Given the description of an element on the screen output the (x, y) to click on. 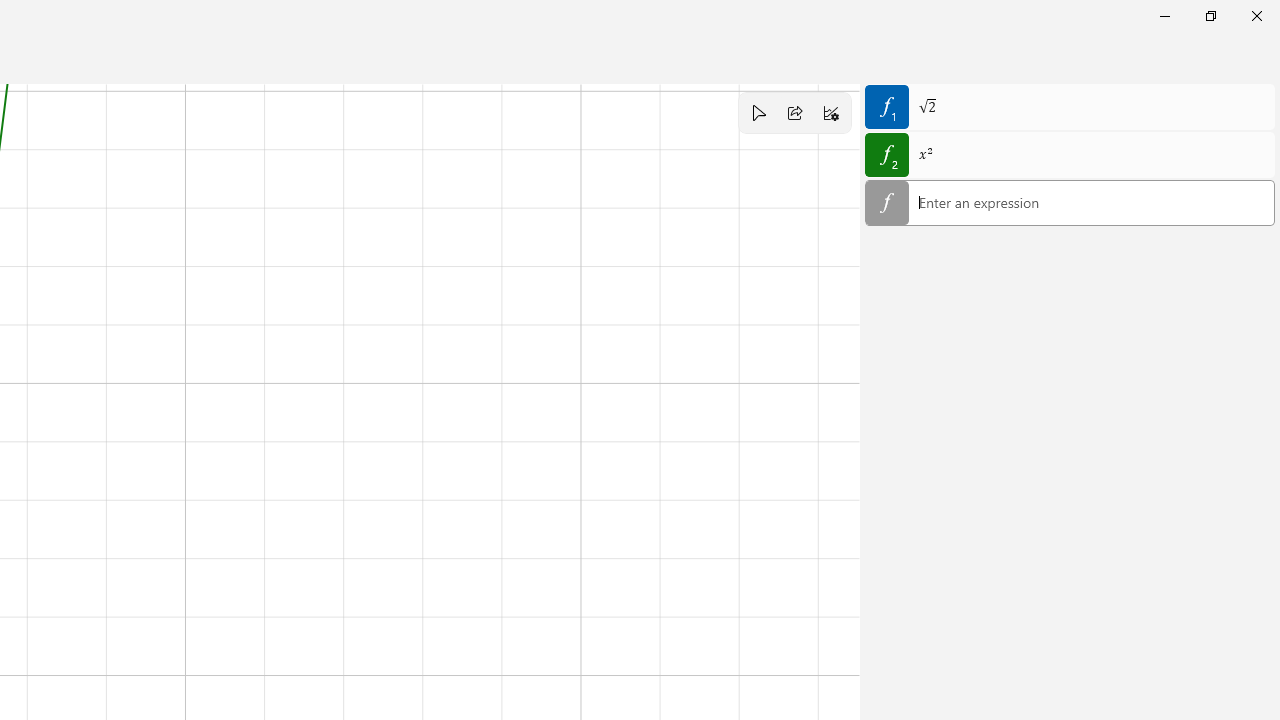
Hide equation 3 (886, 202)
Graph options (831, 112)
Close Calculator (1256, 15)
Restore Calculator (1210, 15)
Hide equation 2 (886, 155)
Function input (1070, 204)
Share (795, 112)
Open the context menu for available actions (1090, 202)
Start tracing (758, 112)
Minimize Calculator (1164, 15)
Hide equation 1 (886, 106)
